Given the description of an element on the screen output the (x, y) to click on. 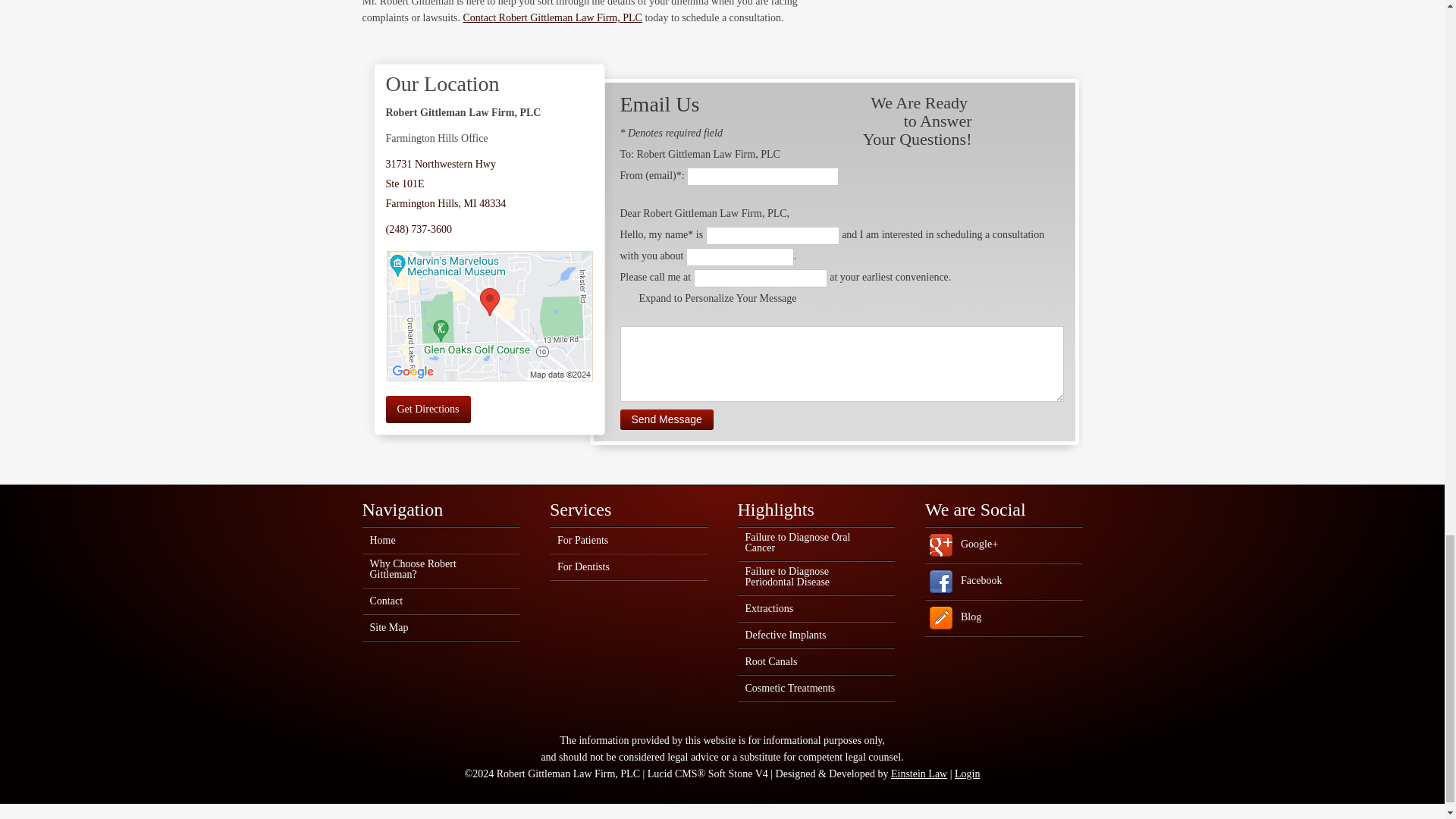
Contact Robert Gittleman Law Firm, PLC (552, 17)
Get Directions (445, 183)
Expand to Personalize Your Message (427, 409)
